Given the description of an element on the screen output the (x, y) to click on. 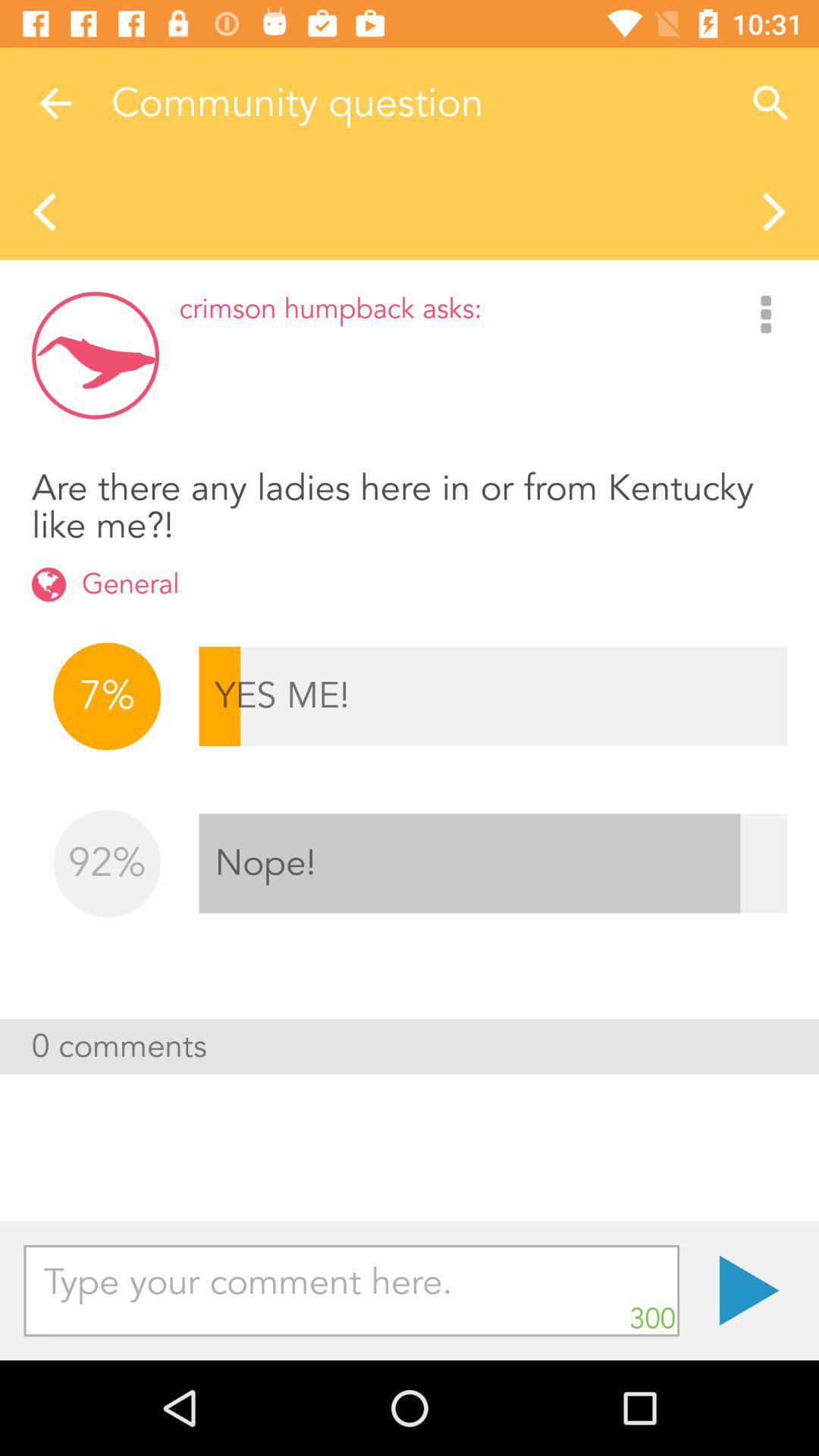
turn off item at the bottom right corner (749, 1290)
